Given the description of an element on the screen output the (x, y) to click on. 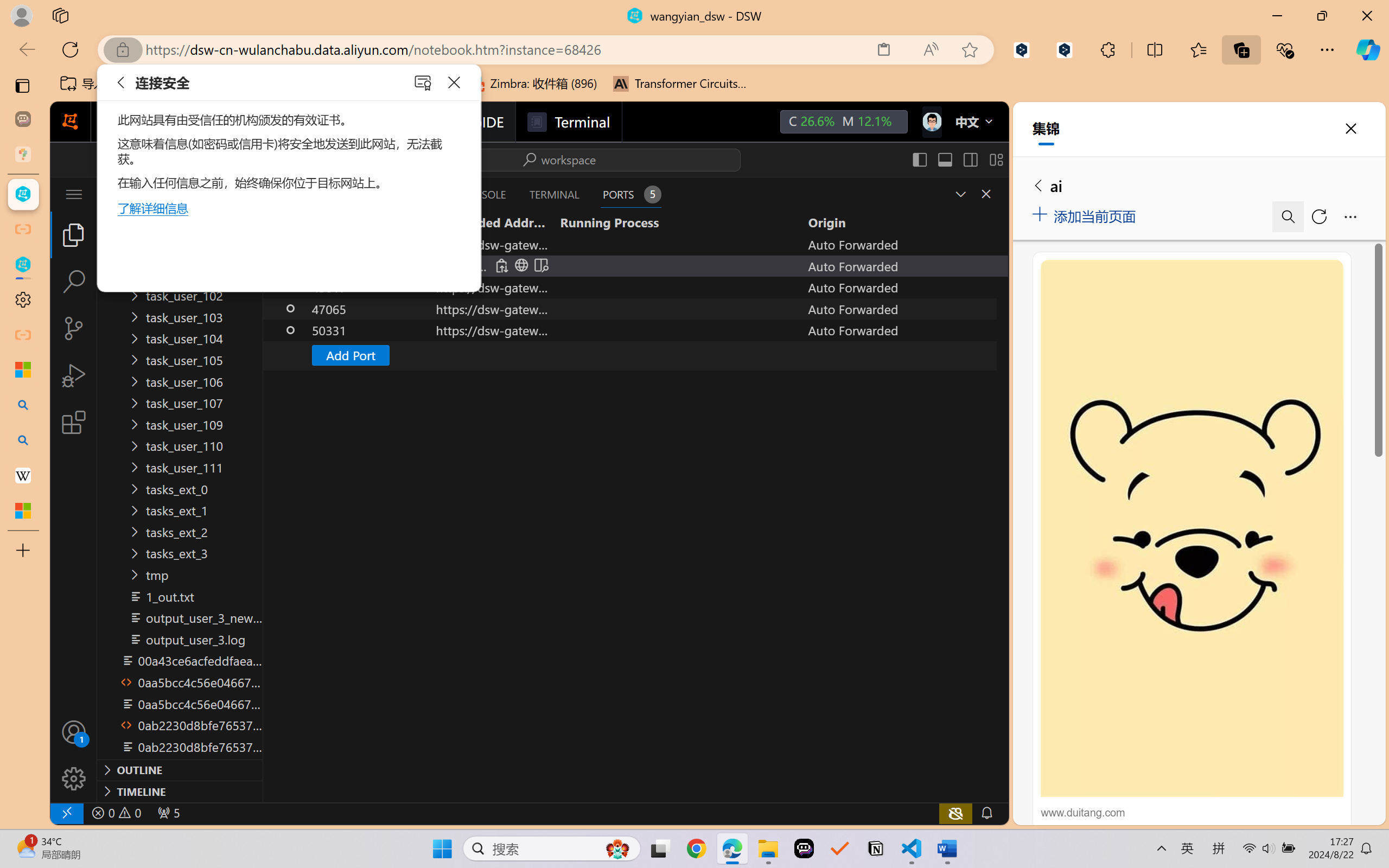
Google Chrome (696, 848)
icon (930, 119)
Extensions (Ctrl+Shift+X) (73, 422)
Class: actions-container (974, 194)
Add Port (349, 354)
